Given the description of an element on the screen output the (x, y) to click on. 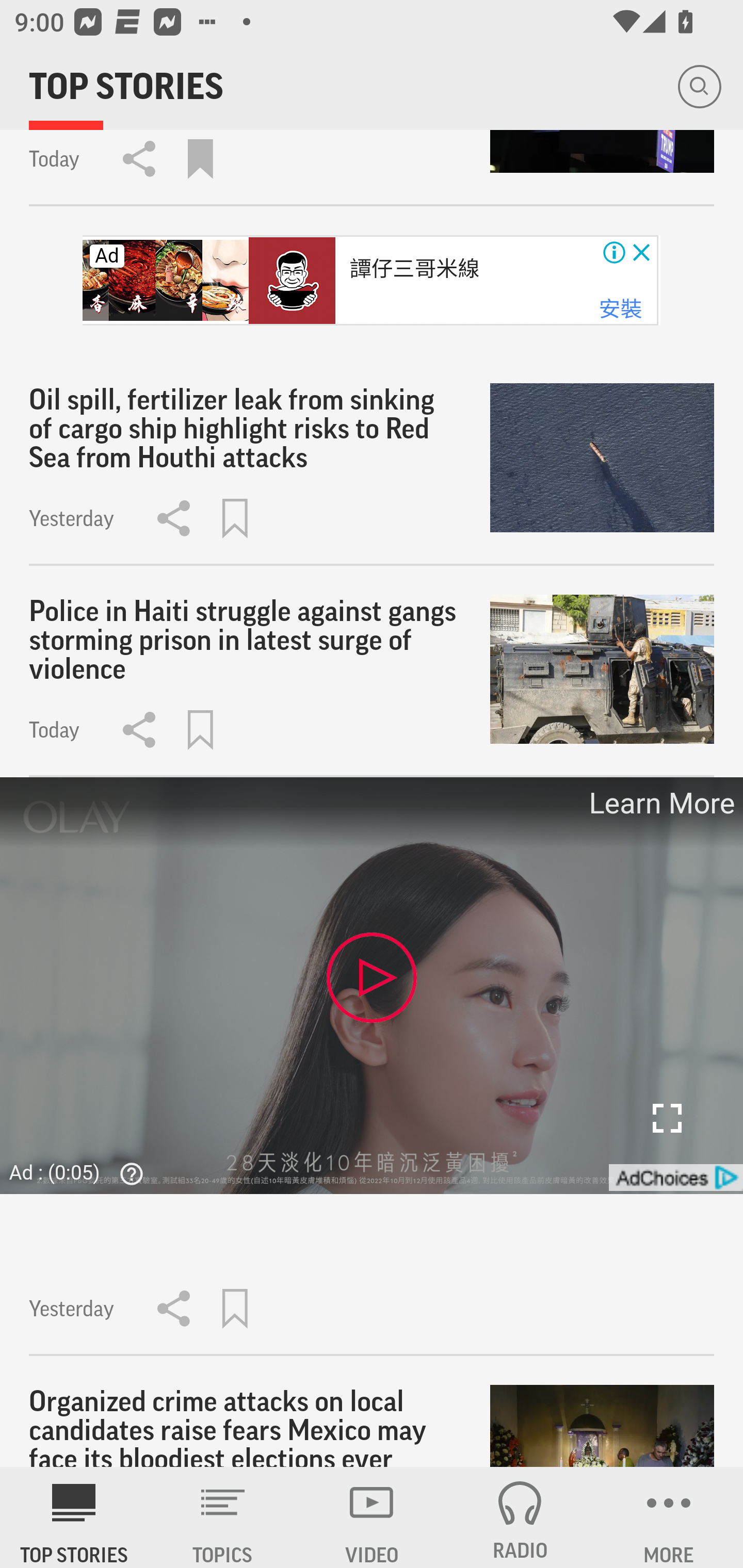
譚仔三哥米線 (414, 268)
安裝 (620, 309)
Learn More (660, 803)
Play (371, 977)
Fullscreen (666, 1117)
Ad : (0:06) Why This Ad? (82, 1171)
Why This Ad? (126, 1173)
get?name=admarker-full-tl (675, 1178)
AP News TOP STORIES (74, 1517)
TOPICS (222, 1517)
VIDEO (371, 1517)
RADIO (519, 1517)
MORE (668, 1517)
